Given the description of an element on the screen output the (x, y) to click on. 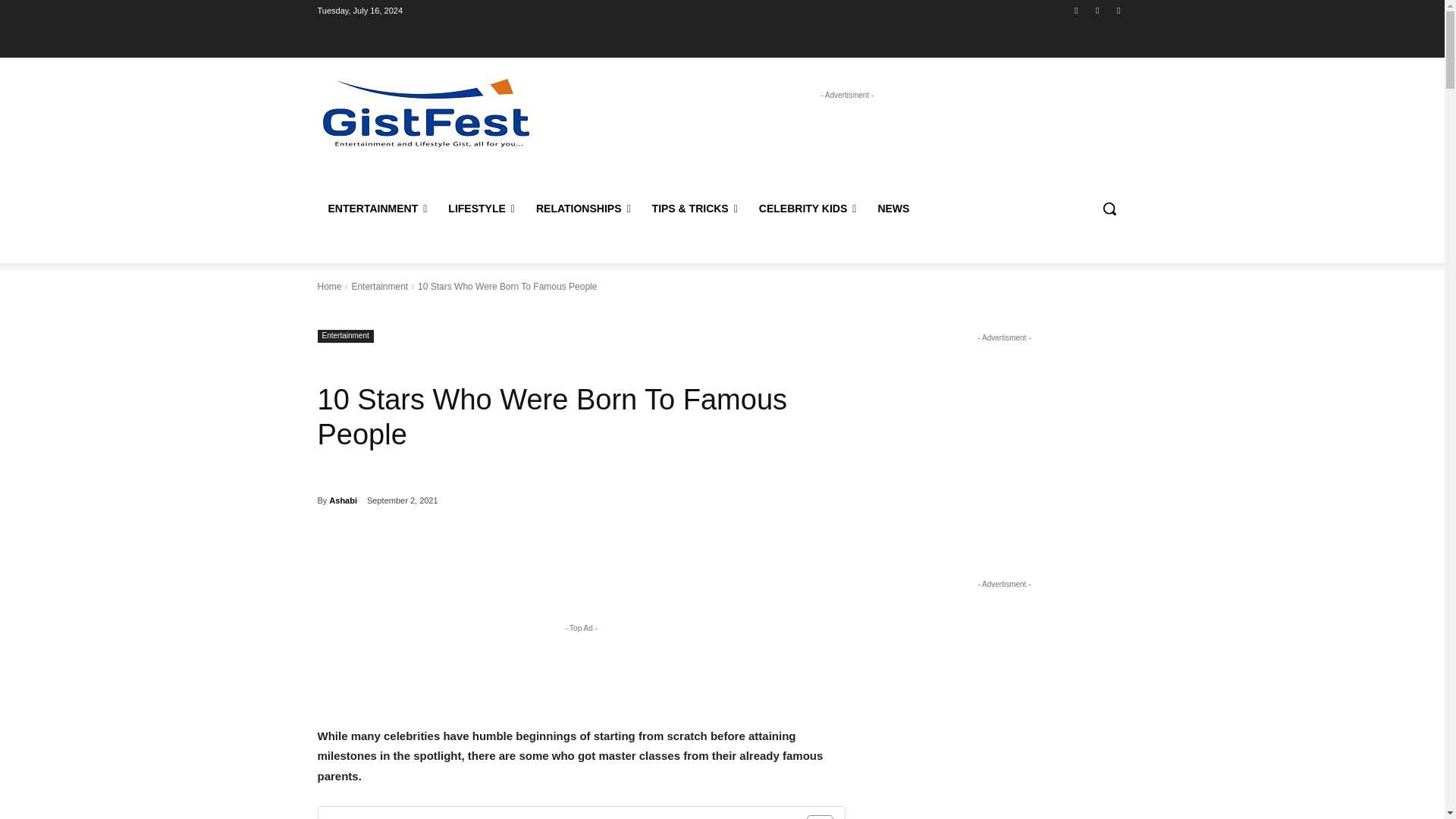
Facebook (1075, 9)
ENTERTAINMENT (377, 208)
RELATIONSHIPS (583, 208)
LIFESTYLE (481, 208)
Gistfest (426, 112)
Gistfest (425, 112)
Instagram (1097, 9)
Twitter (1117, 9)
